Given the description of an element on the screen output the (x, y) to click on. 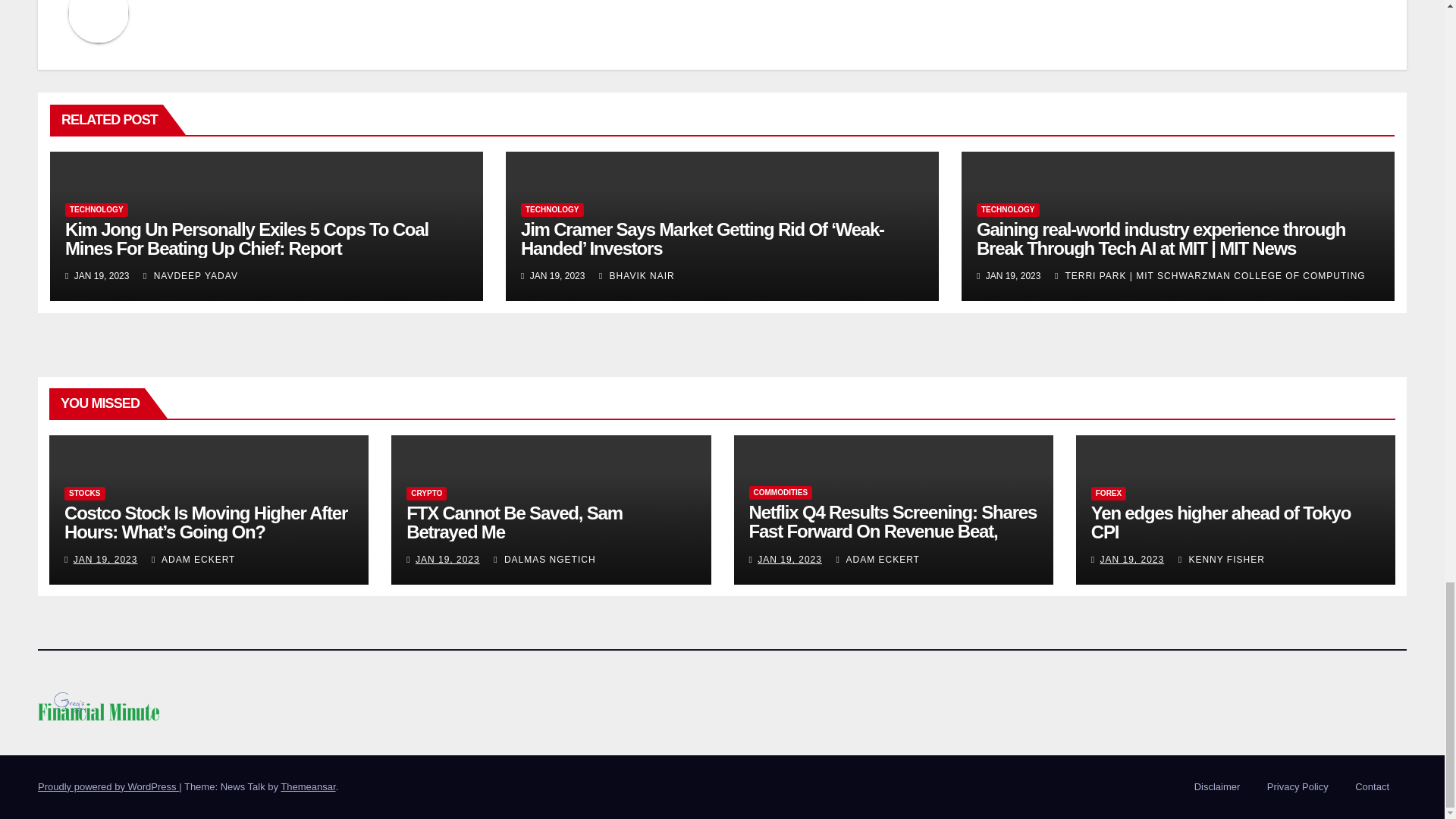
Permalink to: FTX Cannot Be Saved, Sam Betrayed Me (514, 522)
TECHNOLOGY (96, 210)
Permalink to: Yen edges higher ahead of Tokyo CPI (1220, 522)
Disclaimer (1217, 786)
